Given the description of an element on the screen output the (x, y) to click on. 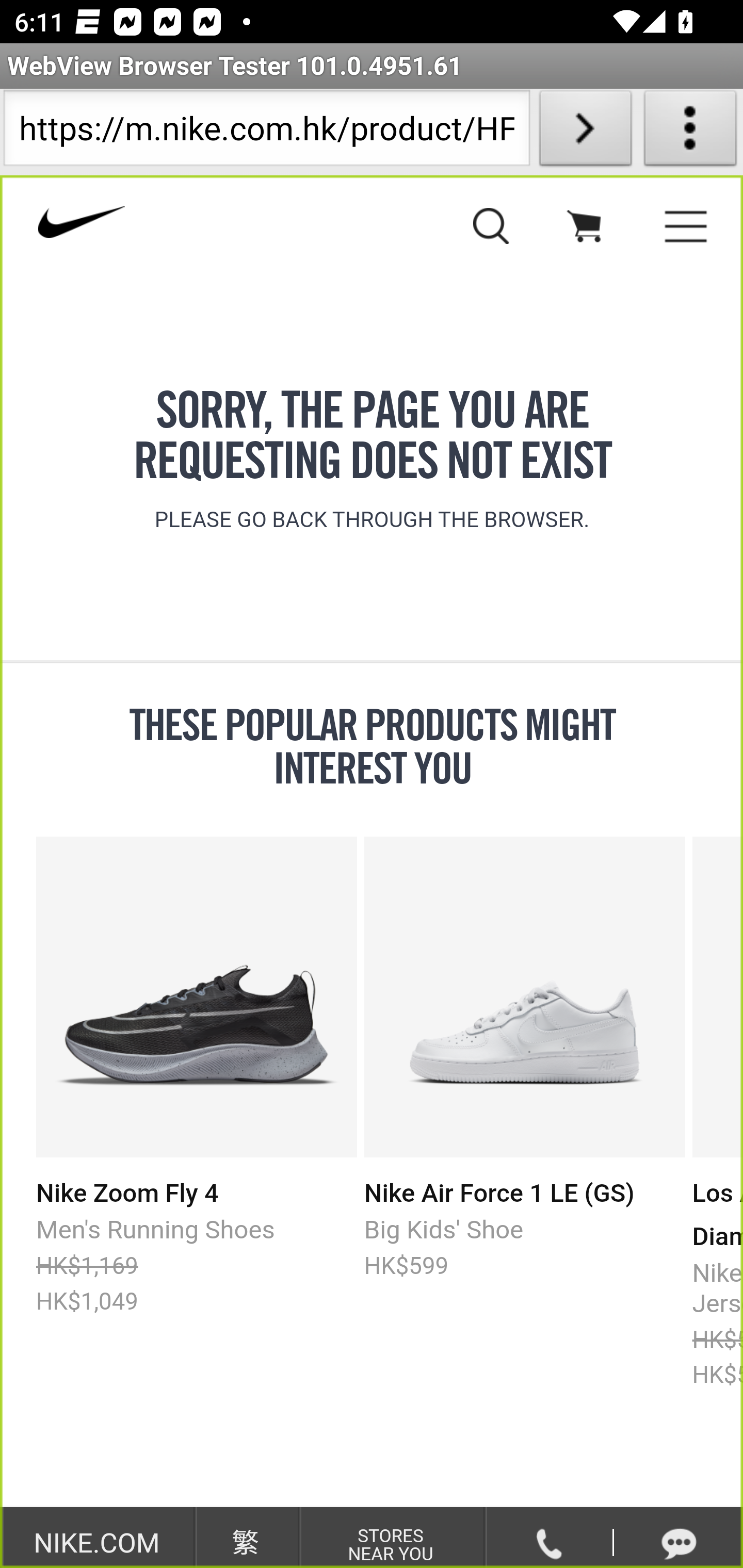
Load URL (585, 132)
About WebView (690, 132)
index (204, 229)
shoppingcart (582, 229)
CT2392-002_M1 (196, 996)
DH2920-111_M1 (524, 996)
STORES NEAR YOU STORES NEAR YOU (390, 1544)
javascript:openContact(); (678, 1543)
NIKE.COM (96, 1542)
繁 (245, 1542)
